Given the description of an element on the screen output the (x, y) to click on. 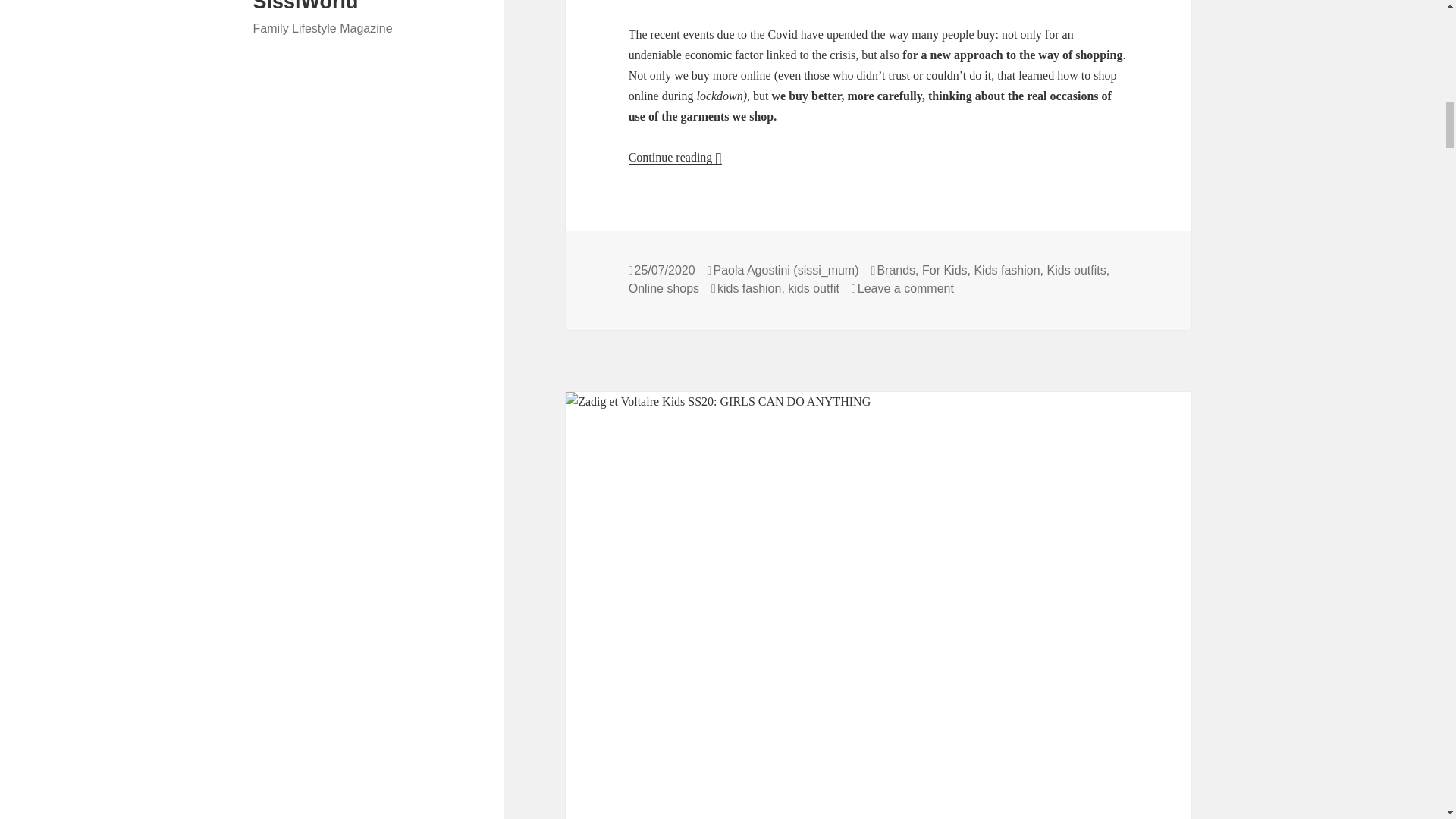
Kids fashion (1006, 270)
kids outfit (813, 288)
Kids outfits (1075, 270)
Brands (895, 270)
For Kids (944, 270)
kids fashion (749, 288)
Online shops (663, 288)
